Given the description of an element on the screen output the (x, y) to click on. 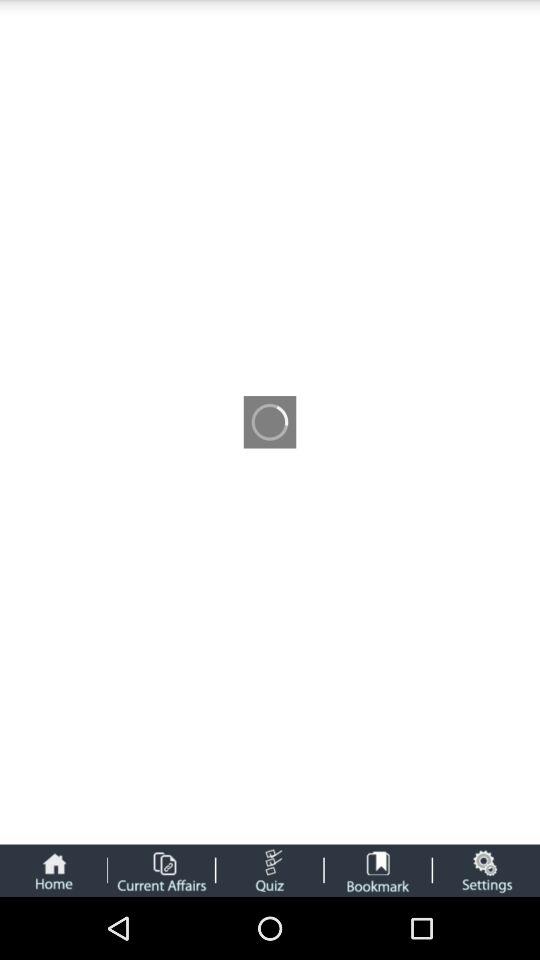
go to settings (486, 870)
